Given the description of an element on the screen output the (x, y) to click on. 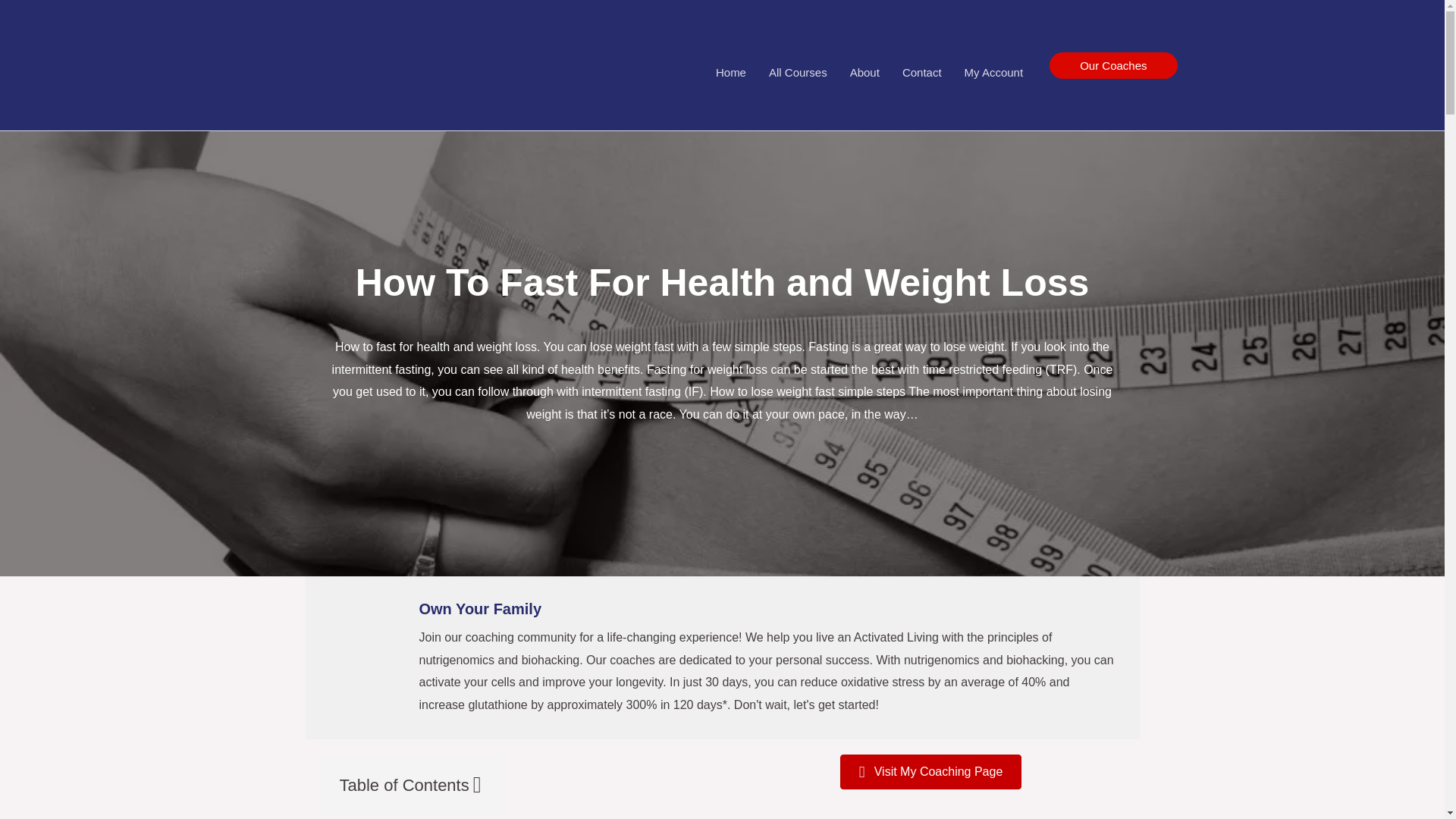
Contact (922, 72)
My Account (994, 72)
Home (730, 72)
About (864, 72)
All Courses (797, 72)
Visit My Coaching Page (931, 772)
Our Coaches (1112, 64)
